Given the description of an element on the screen output the (x, y) to click on. 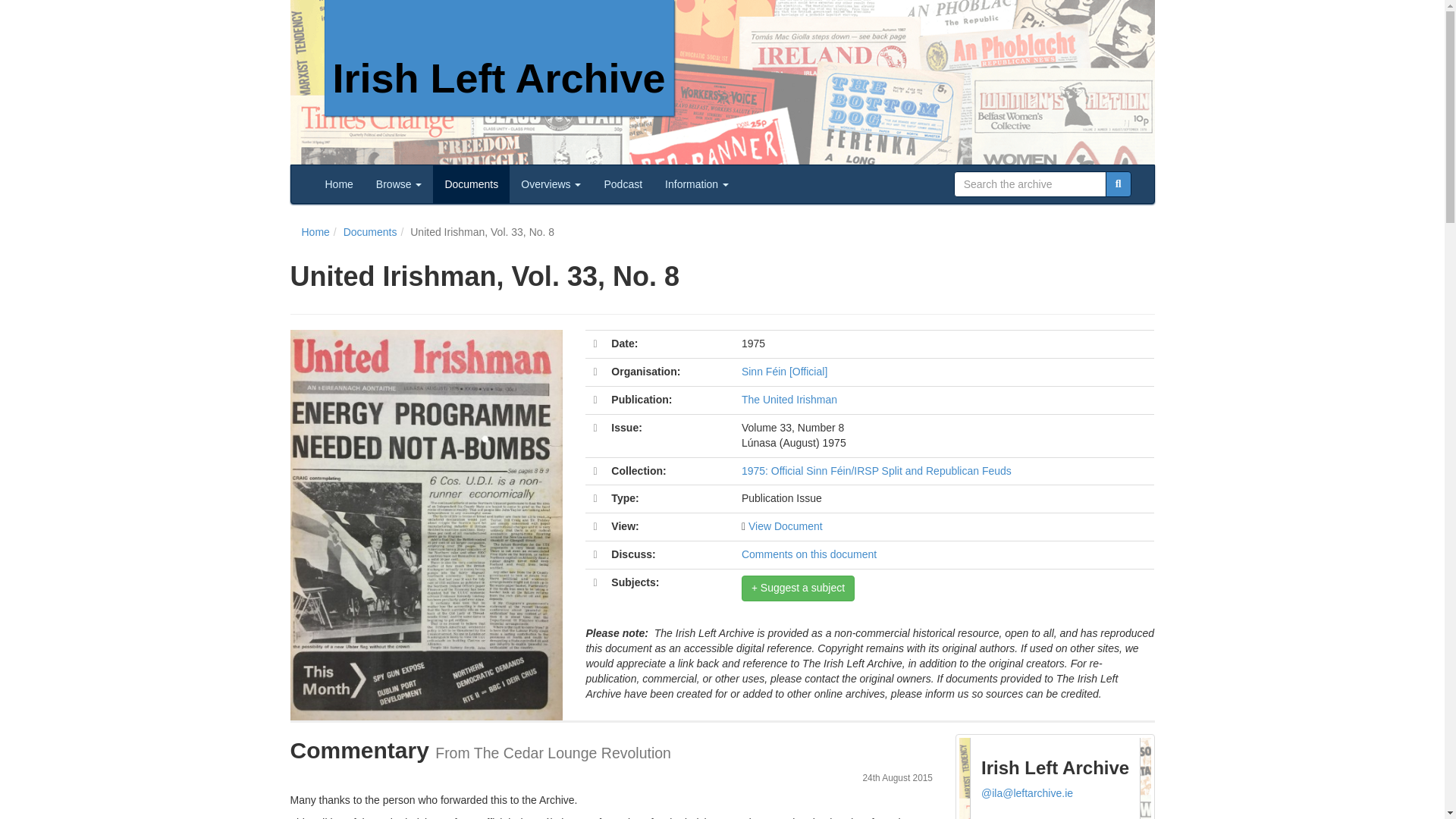
View Document (785, 526)
The United Irishman (789, 399)
Podcast (622, 184)
Home (339, 184)
Browse (399, 184)
Home (315, 232)
Information (696, 184)
United Irishman, Vol. 33, No. 8 (482, 232)
Documents (370, 232)
Documents (470, 184)
View PDF of United Irishman, Vol. 33, No. 8 (785, 526)
Suggest a subject (797, 588)
Overviews (550, 184)
The United Irishman (789, 399)
Irish Left Archive (499, 58)
